Given the description of an element on the screen output the (x, y) to click on. 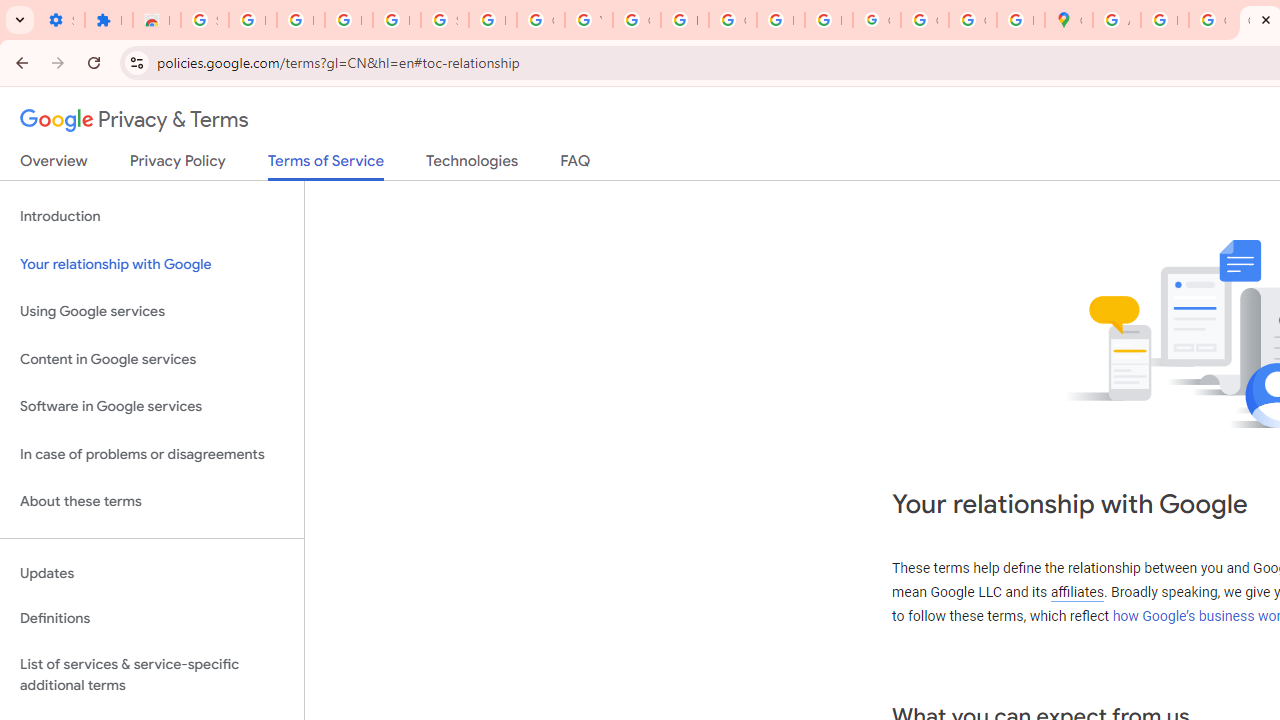
Content in Google services (152, 358)
Using Google services (152, 312)
Sign in - Google Accounts (204, 20)
